Given the description of an element on the screen output the (x, y) to click on. 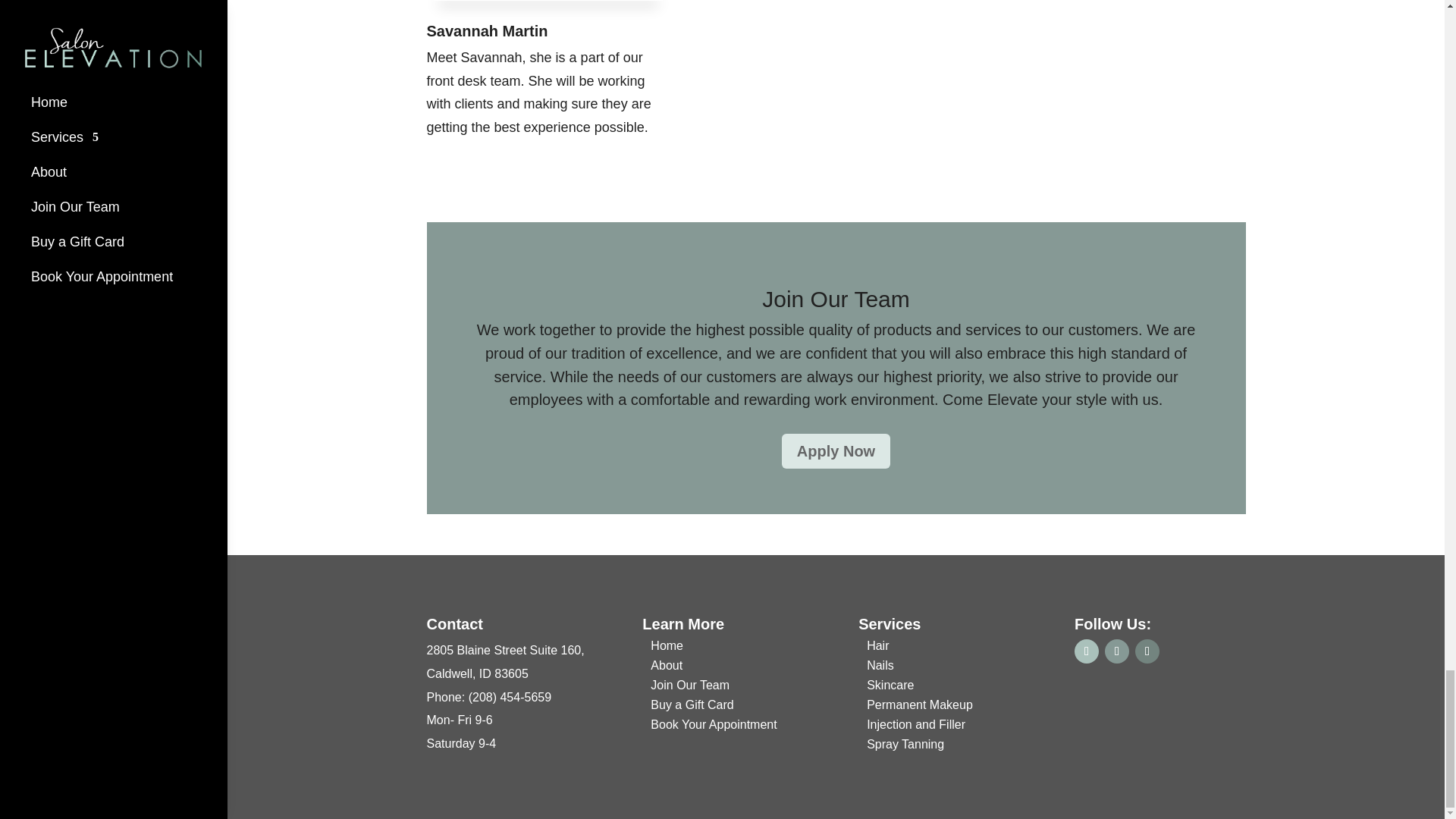
Permanent Makeup (919, 707)
Buy a Gift Card (691, 707)
Injection and Filler (915, 727)
Spray Tanning (904, 747)
Join Our Team (689, 688)
Hair (877, 648)
Nails (879, 668)
Home (666, 648)
Skincare (890, 688)
Book Your Appointment (713, 727)
